Given the description of an element on the screen output the (x, y) to click on. 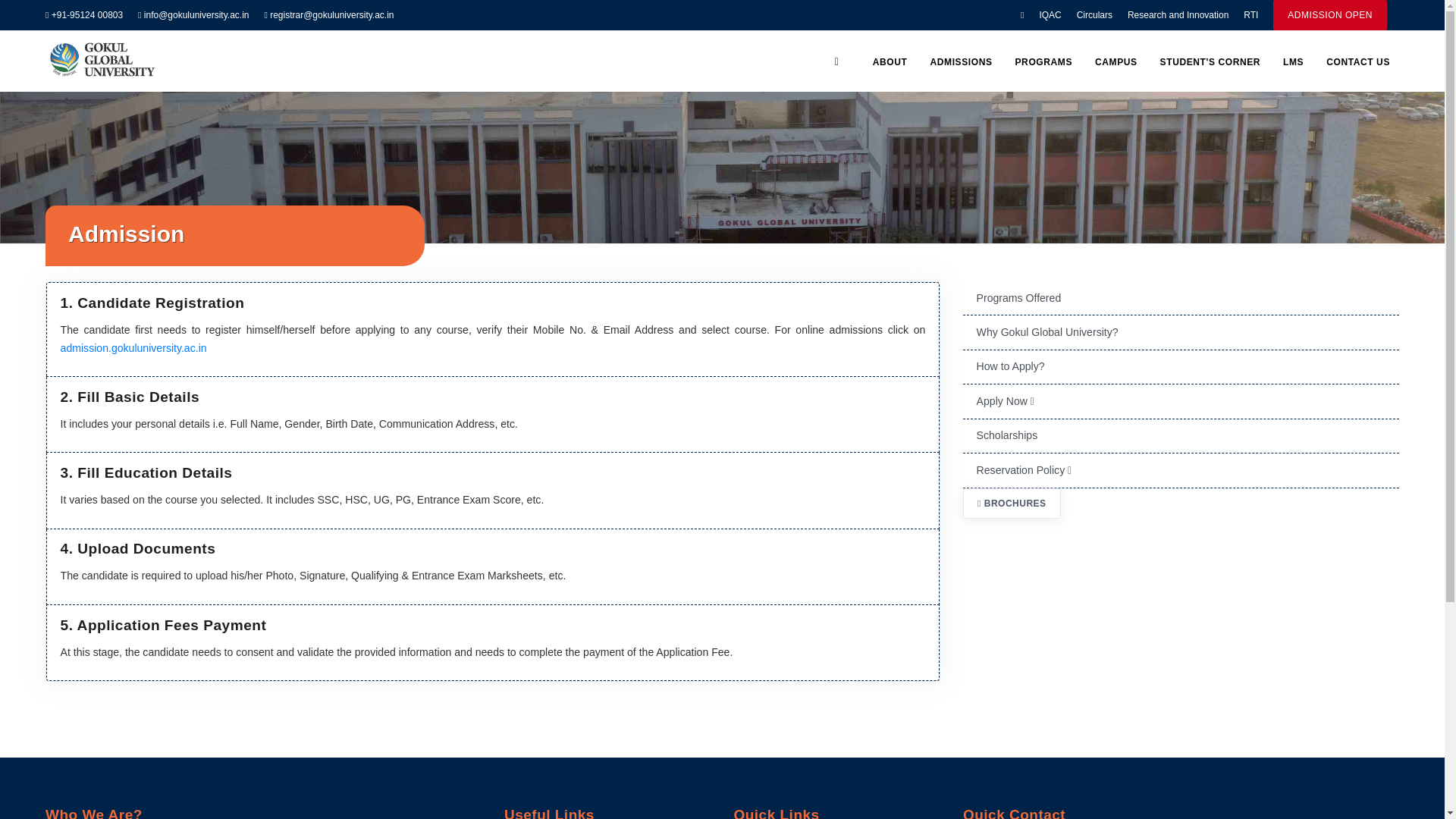
ABOUT (890, 62)
Circulars (1094, 15)
Research and Innovation (1177, 15)
ADMISSION OPEN (1329, 15)
ADMISSIONS (960, 62)
